Given the description of an element on the screen output the (x, y) to click on. 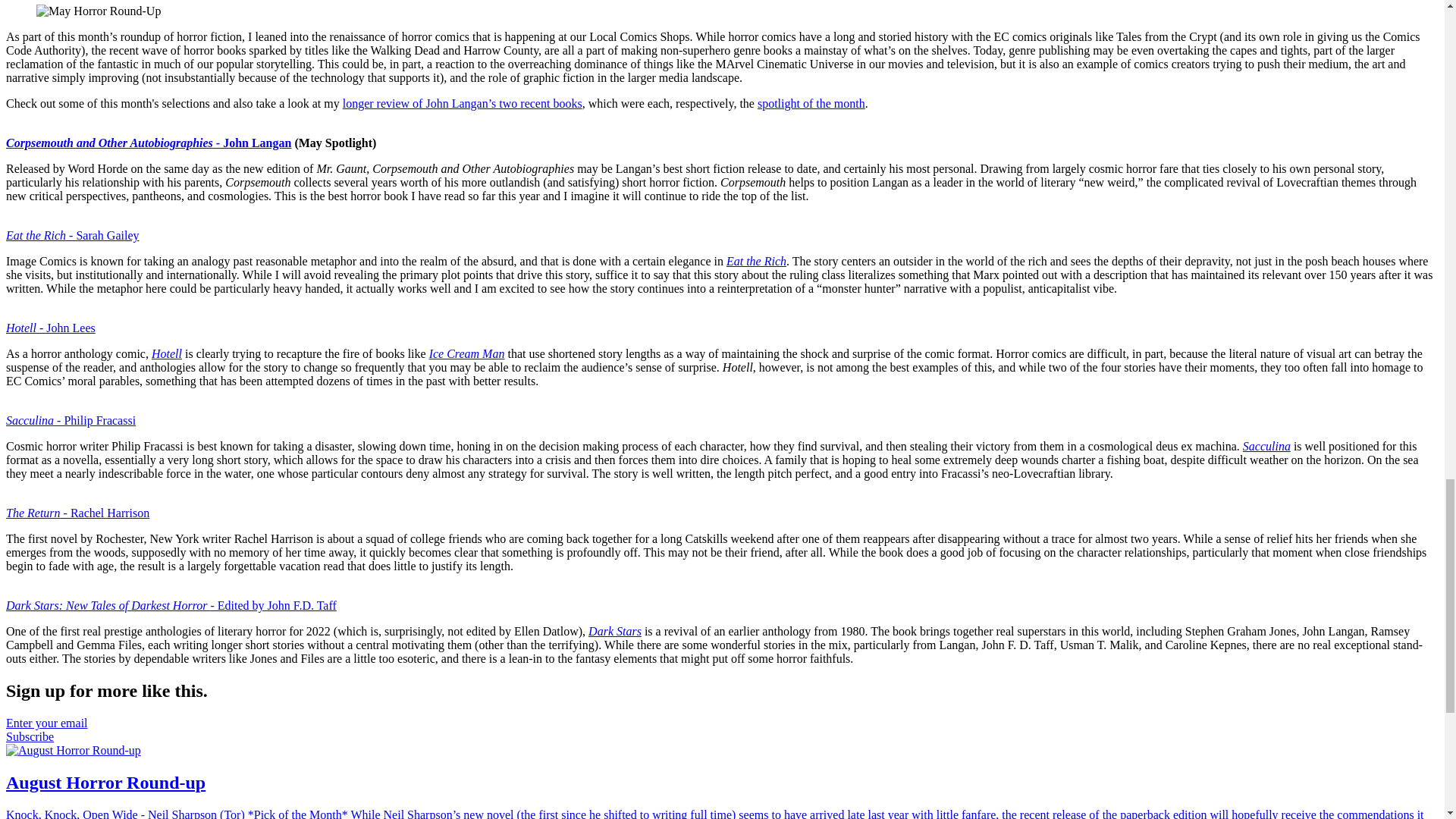
Dark Stars (615, 631)
Eat the Rich (756, 260)
Sacculina - Philip Fracassi (70, 420)
The Return - Rachel Harrison (77, 512)
spotlight of the month (810, 103)
Corpsemouth and Other Autobiographies - John Langan (148, 142)
Ice Cream Man (467, 353)
Eat the Rich - Sarah Gailey (72, 235)
Hotell (166, 353)
